Given the description of an element on the screen output the (x, y) to click on. 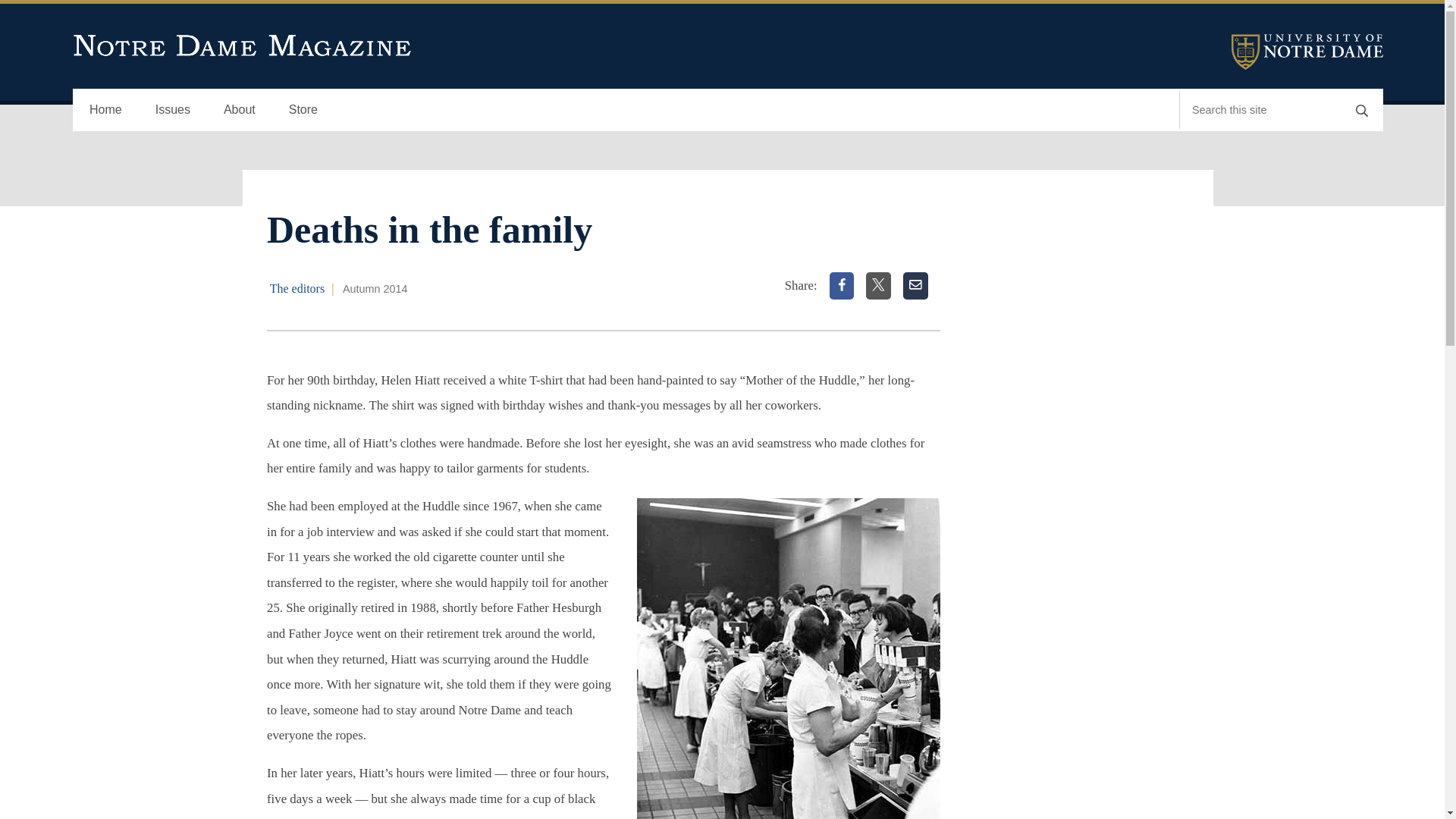
Issues (172, 109)
University of Notre Dame (1307, 51)
type your search term (1259, 109)
About (239, 109)
Notre Dame Magazine (242, 46)
Home (105, 109)
Store (303, 109)
Email (915, 285)
The editors (296, 287)
Facebook (841, 285)
